Given the description of an element on the screen output the (x, y) to click on. 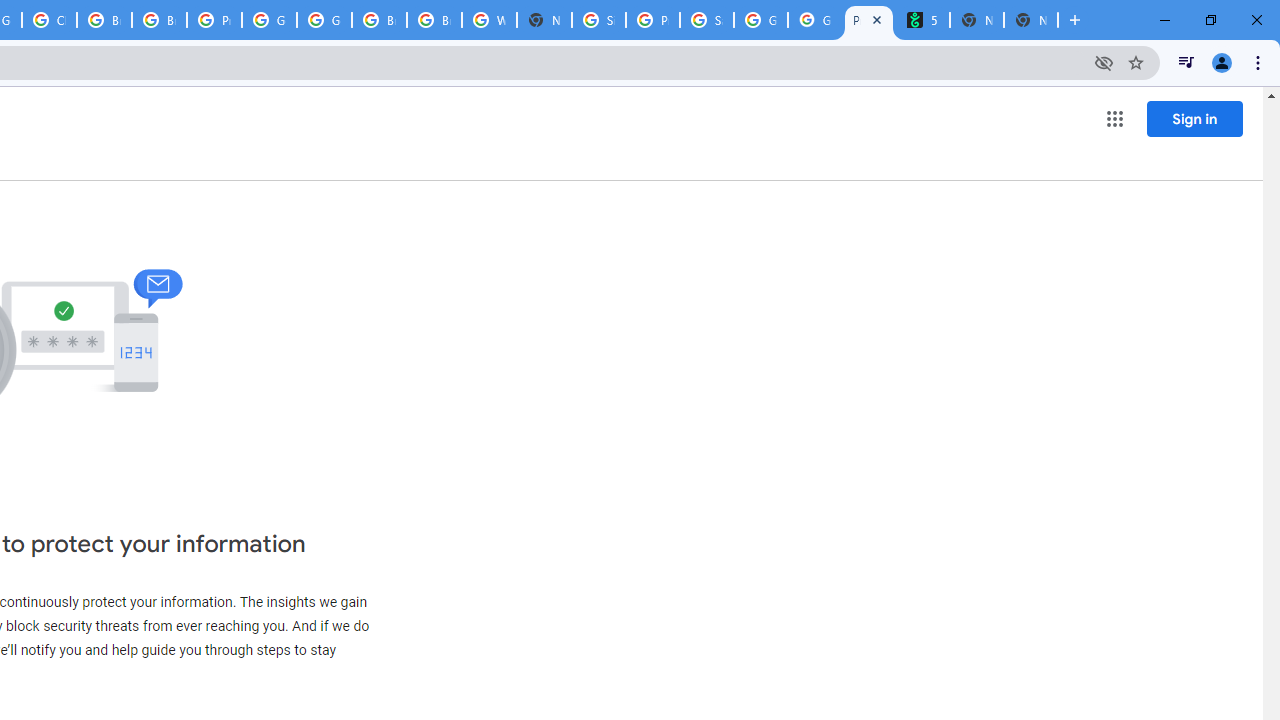
Sign in - Google Accounts (598, 20)
Browse Chrome as a guest - Computer - Google Chrome Help (379, 20)
Google Cloud Platform (324, 20)
Google Cloud Platform (268, 20)
